Given the description of an element on the screen output the (x, y) to click on. 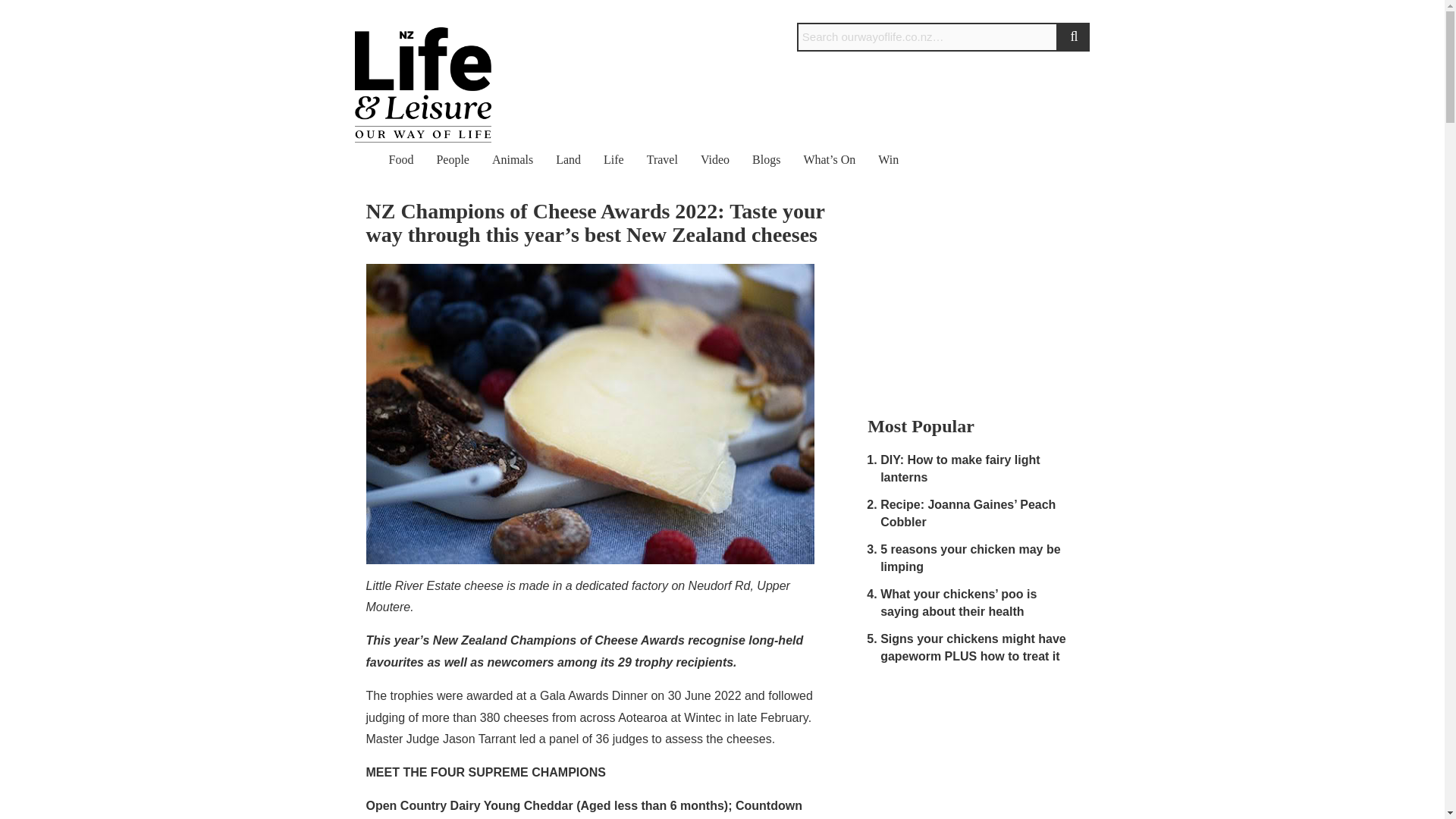
DIY: How to make fairy light lanterns (959, 468)
Video (714, 159)
People (451, 159)
Win (887, 159)
Signs your chickens might have gapeworm PLUS how to treat it (972, 647)
Advertise (942, 10)
Blogs (766, 159)
3rd party ad content (967, 294)
Animals (512, 159)
Search for: (927, 36)
Life (614, 159)
Subscribe (1061, 10)
Food (400, 159)
Land (568, 159)
5 reasons your chicken may be limping (969, 557)
